Given the description of an element on the screen output the (x, y) to click on. 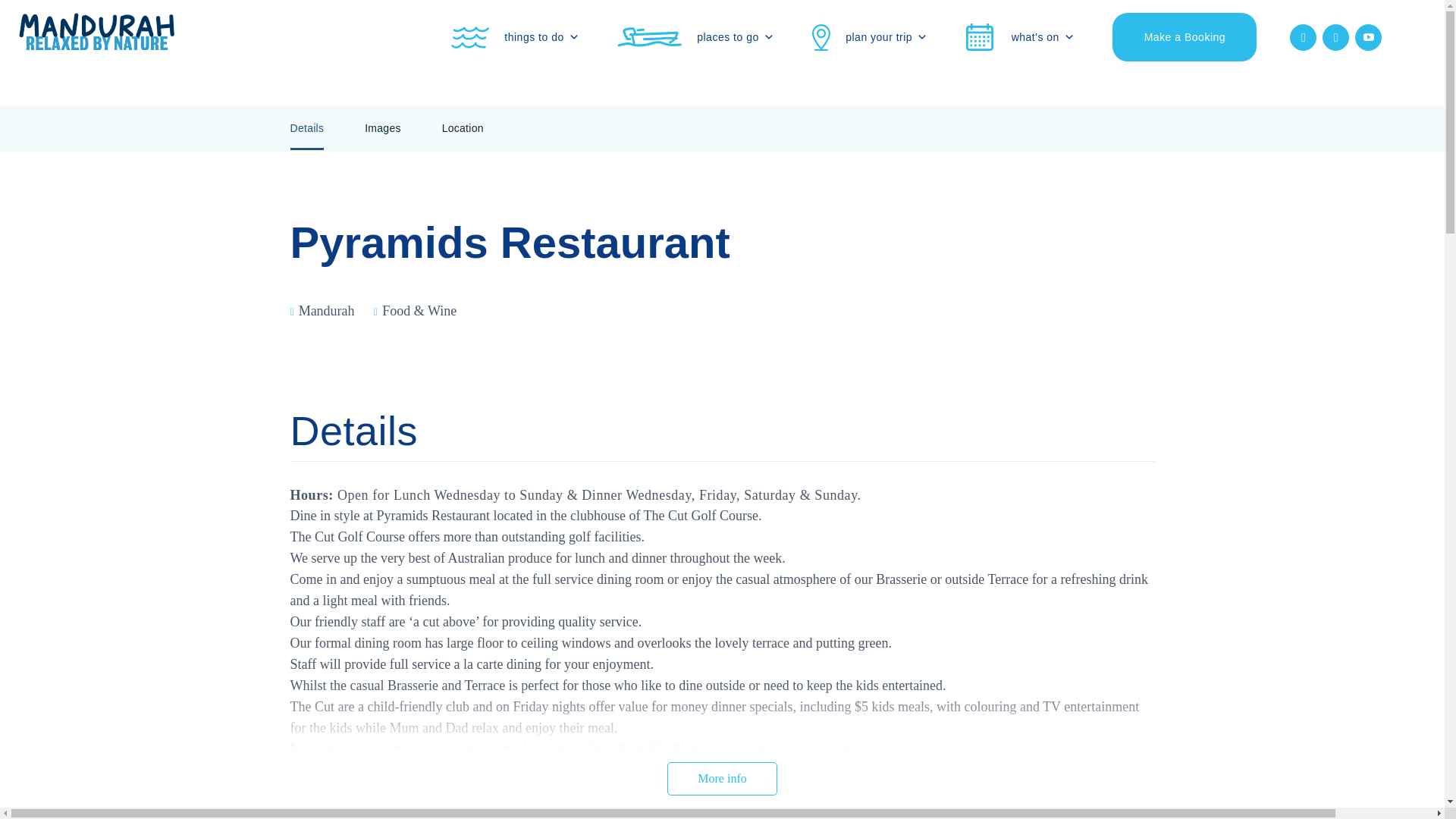
things to do (518, 37)
Visit Mandurah (94, 63)
